Given the description of an element on the screen output the (x, y) to click on. 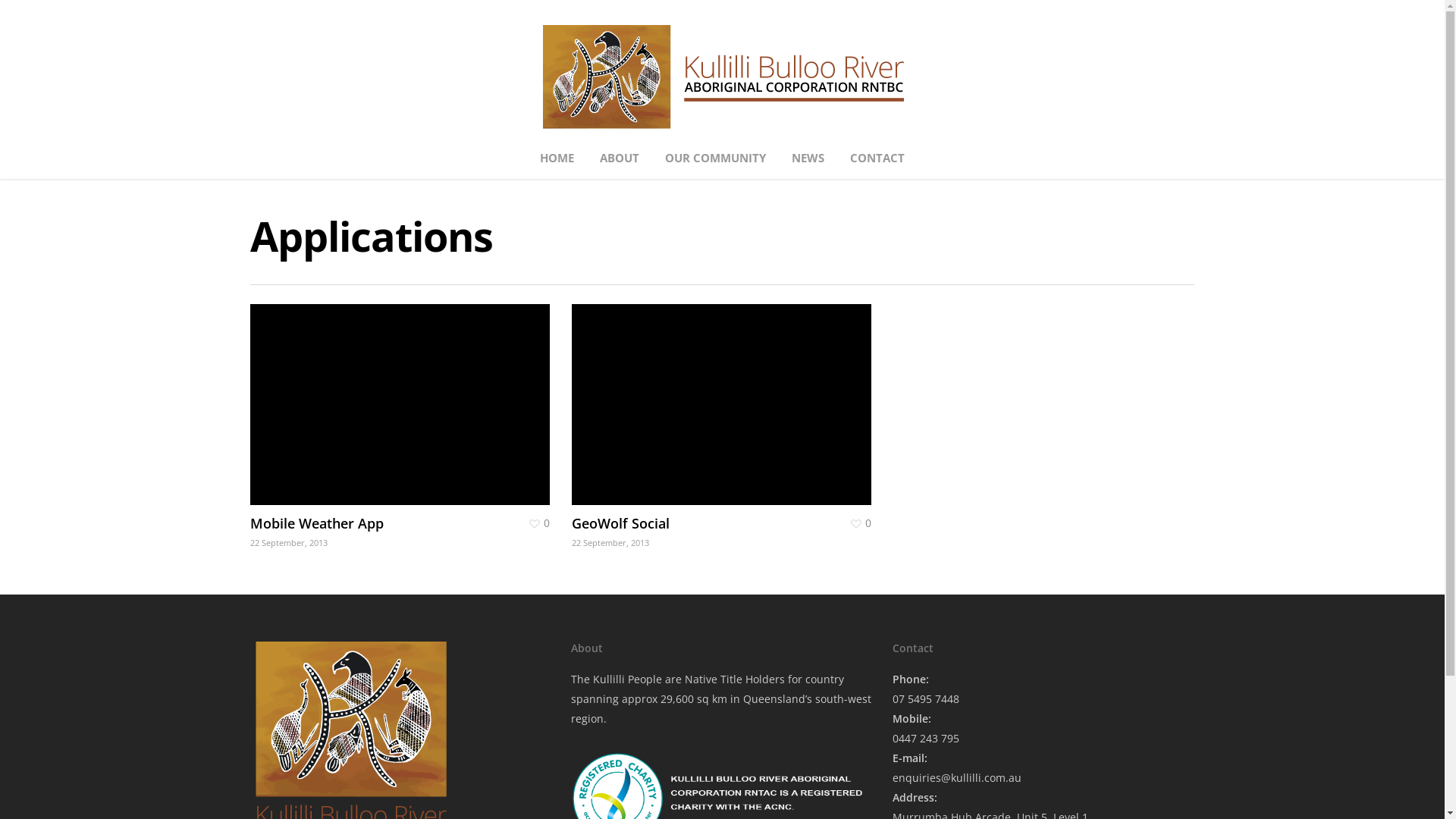
0 Element type: text (860, 523)
0 Element type: text (539, 523)
OUR COMMUNITY Element type: text (715, 165)
NEWS Element type: text (807, 165)
CONTACT Element type: text (877, 165)
HOME Element type: text (556, 165)
ABOUT Element type: text (619, 165)
